Given the description of an element on the screen output the (x, y) to click on. 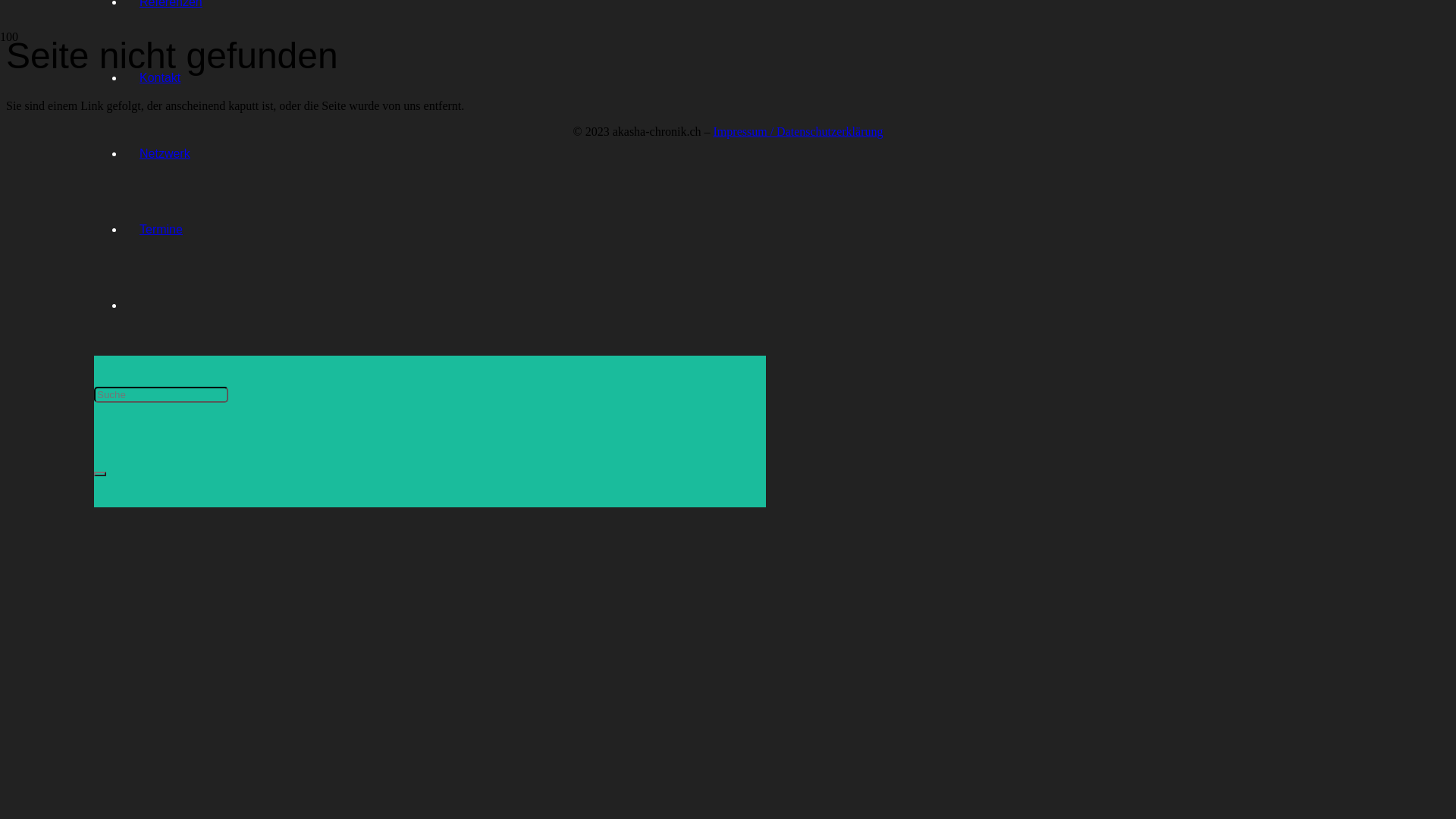
Termine Element type: text (160, 228)
Netzwerk Element type: text (164, 153)
Kontakt Element type: text (159, 77)
